Given the description of an element on the screen output the (x, y) to click on. 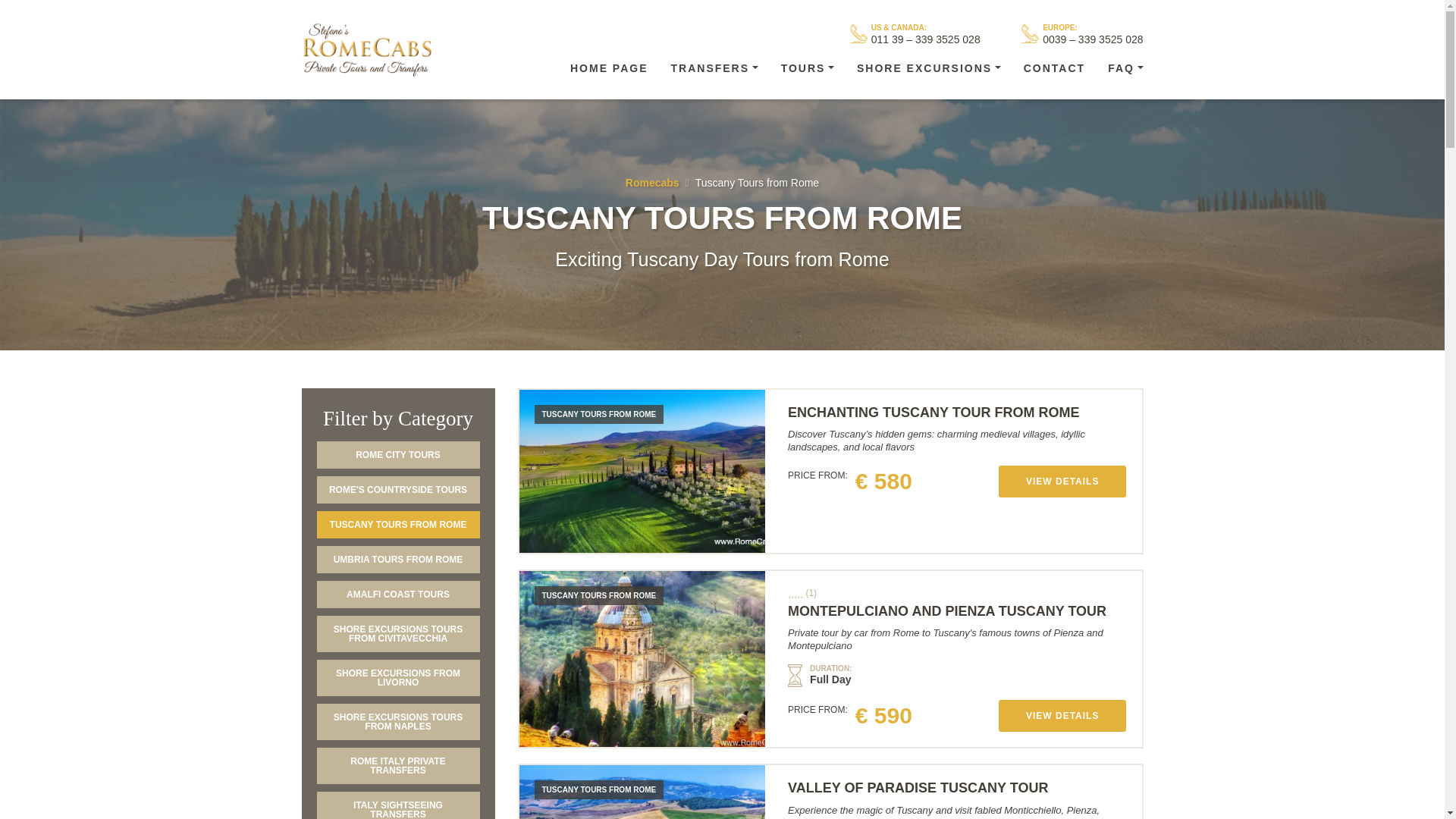
TUSCANY TOURS FROM ROME (398, 524)
TOURS (807, 68)
ROME'S COUNTRYSIDE TOURS (398, 489)
ROME ITALY PRIVATE TRANSFERS (398, 765)
TRANSFERS (714, 68)
ROME CITY TOURS (398, 454)
UMBRIA TOURS FROM ROME (398, 559)
HOME PAGE (609, 68)
SHORE EXCURSIONS FROM LIVORNO (398, 678)
CONTACT (1053, 68)
